Given the description of an element on the screen output the (x, y) to click on. 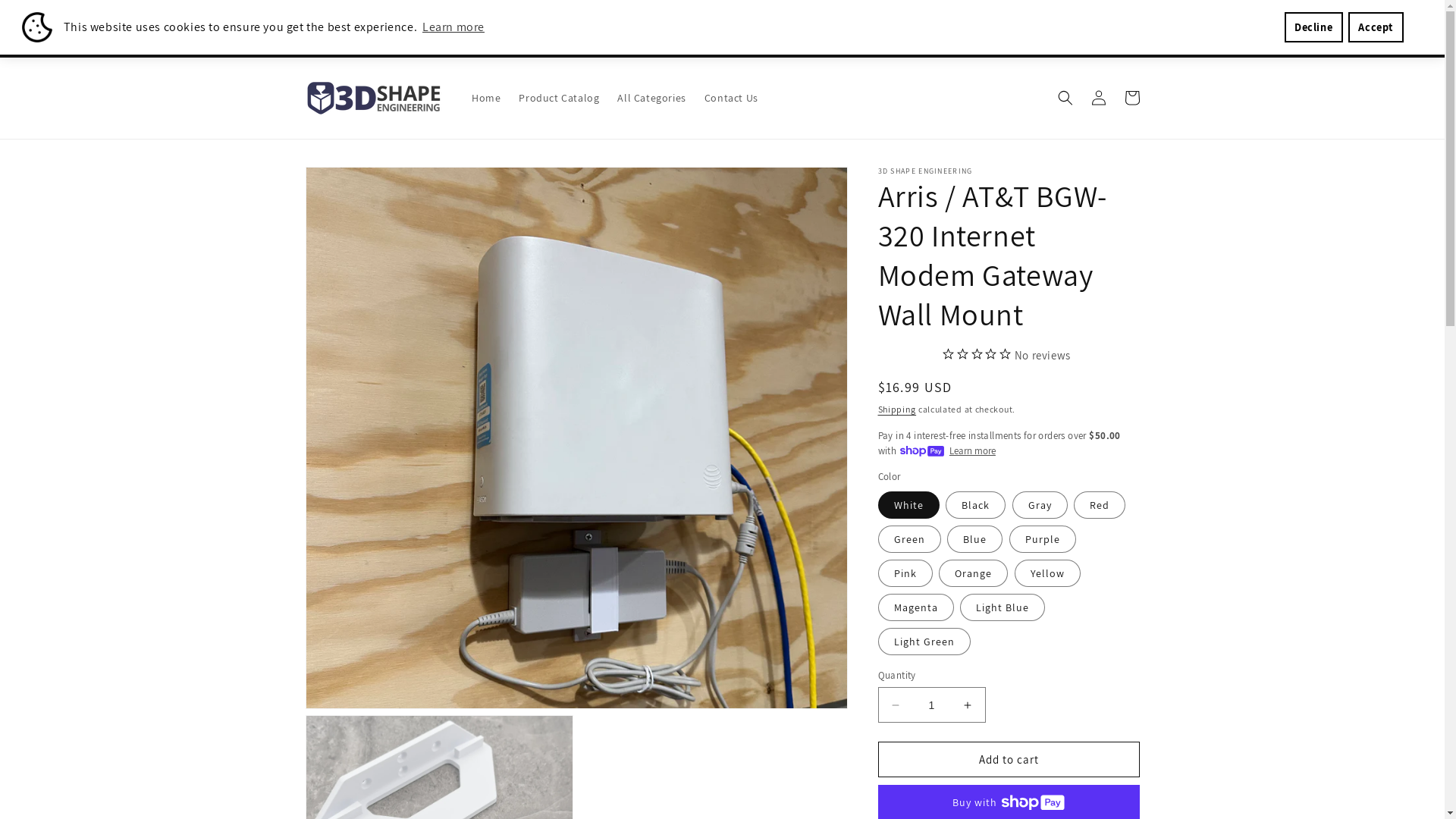
Shipping Element type: text (897, 408)
Add to cart Element type: text (1008, 759)
Home Element type: text (485, 97)
Cart Element type: text (1131, 97)
All Categories Element type: text (651, 97)
Contact Us Element type: text (731, 97)
Log in Element type: text (1097, 97)
Skip to product information Element type: text (350, 183)
Product Catalog Element type: text (558, 97)
